Given the description of an element on the screen output the (x, y) to click on. 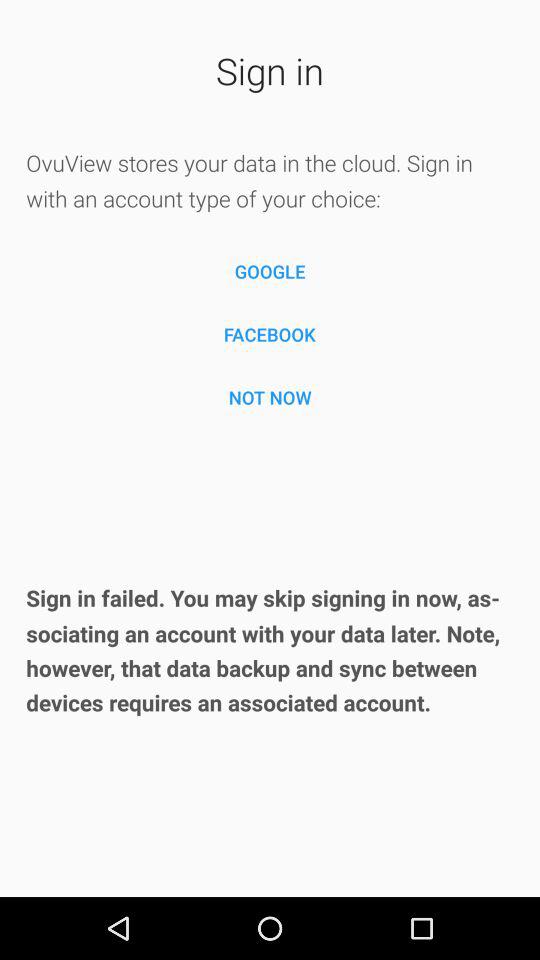
choose the icon above the not now (269, 334)
